Given the description of an element on the screen output the (x, y) to click on. 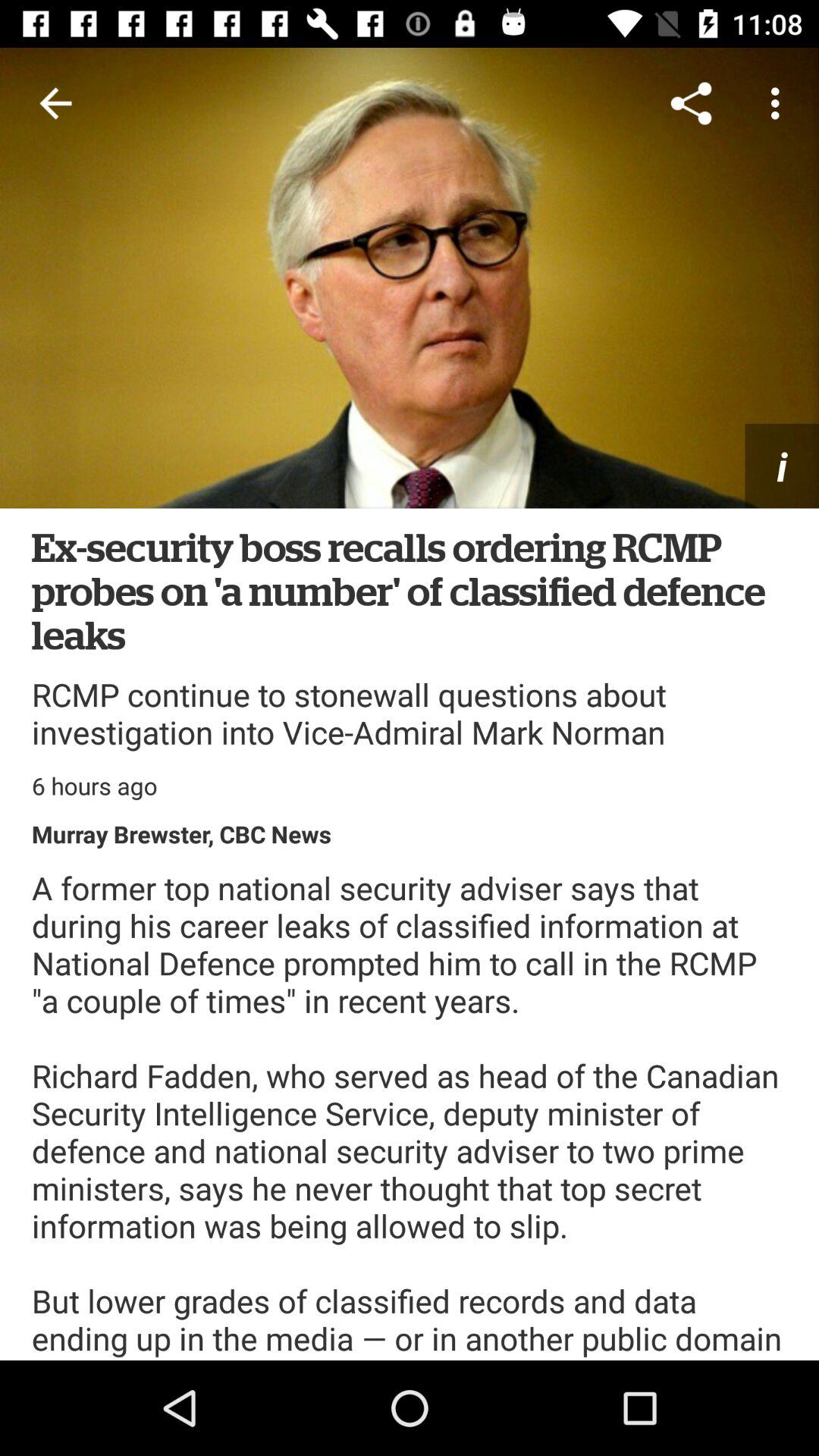
tap item above the ex security boss item (409, 277)
